Given the description of an element on the screen output the (x, y) to click on. 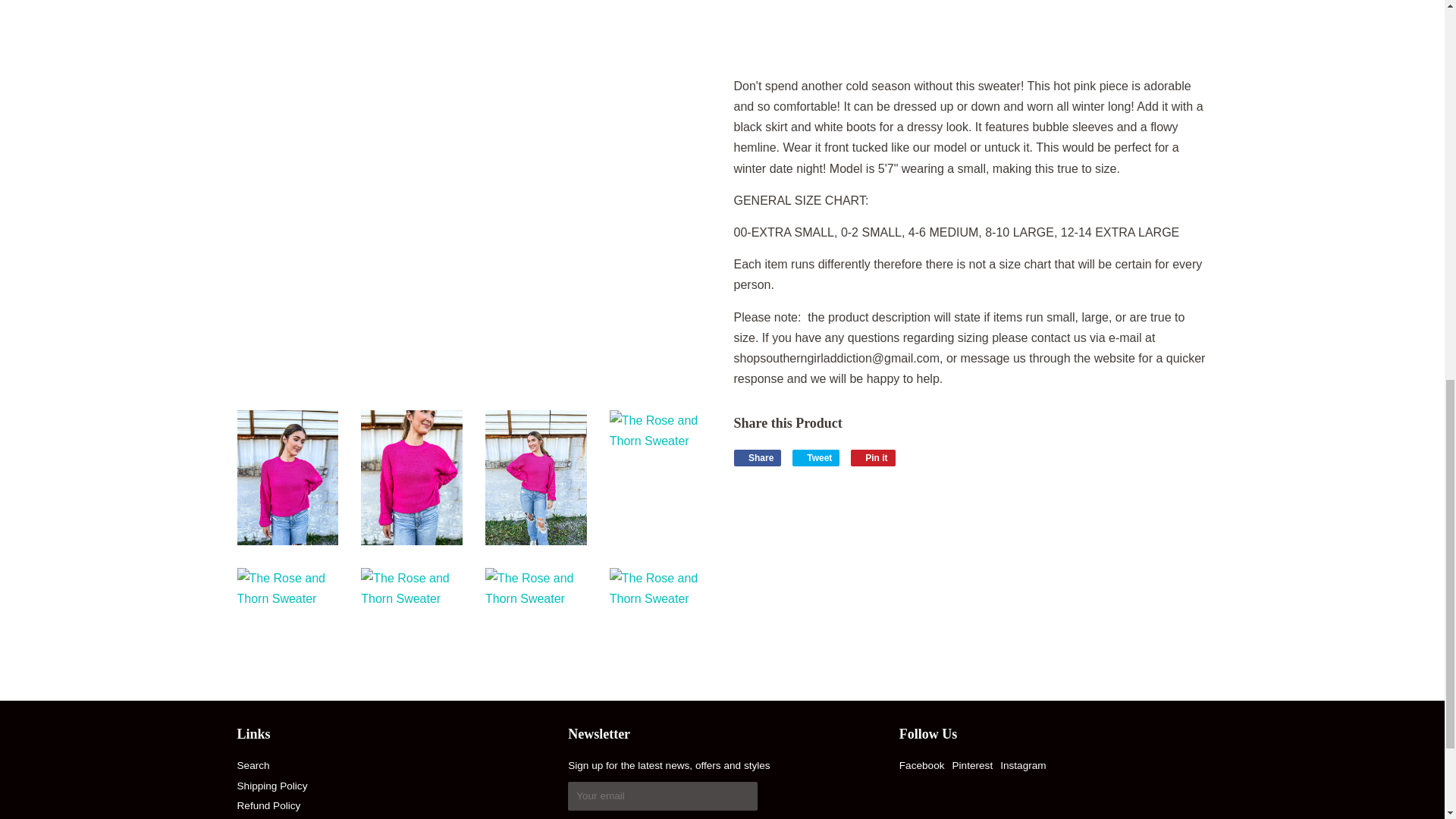
Southern Girl Addiction on Pinterest (972, 765)
Tweet on Twitter (816, 457)
Pin on Pinterest (872, 457)
Southern Girl Addiction on Facebook (921, 765)
Share on Facebook (757, 457)
Southern Girl Addiction on Instagram (1022, 765)
